Given the description of an element on the screen output the (x, y) to click on. 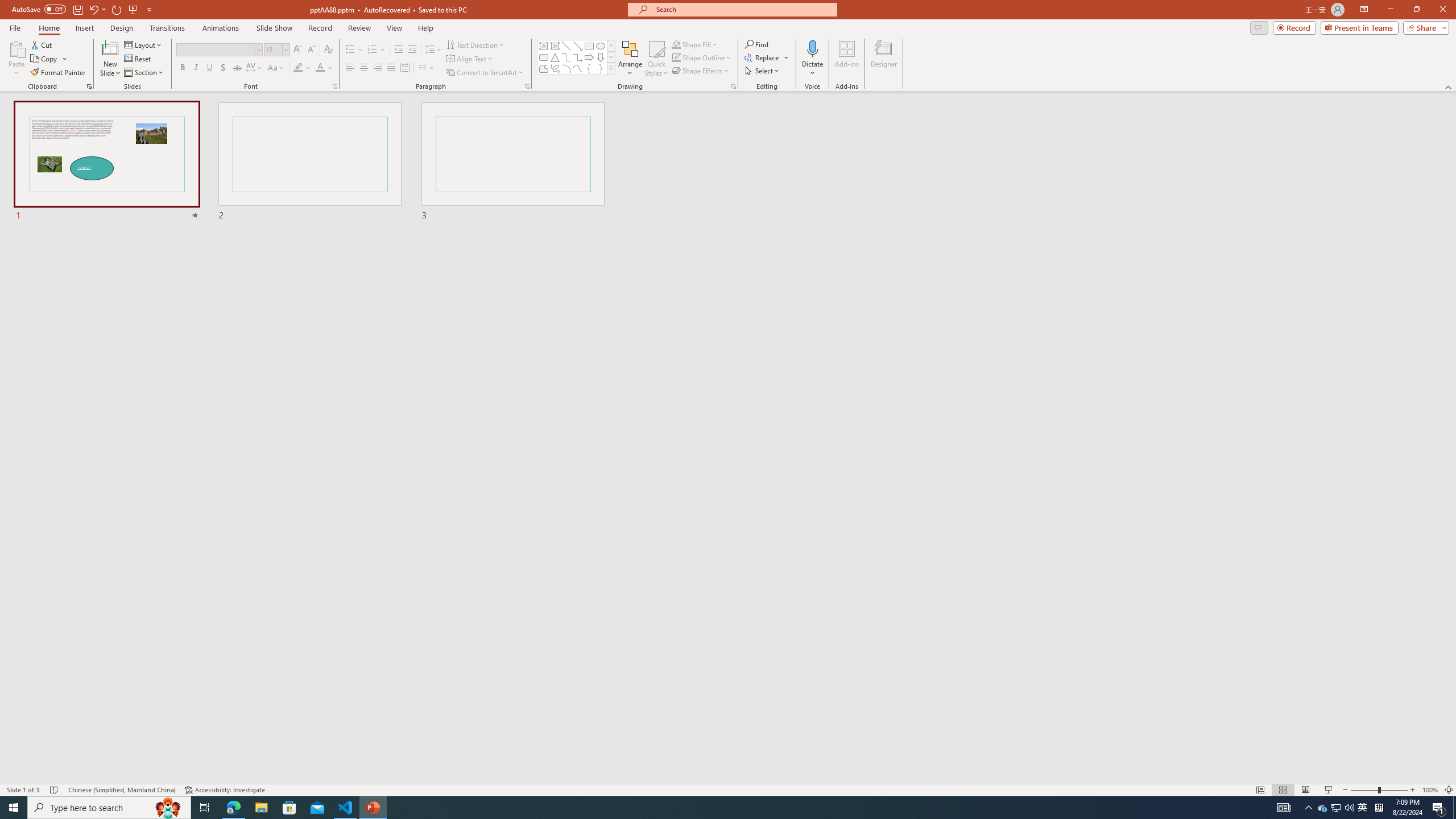
Ribbon Display Options (1364, 9)
Strikethrough (237, 67)
Line Arrow (577, 45)
Quick Access Toolbar (82, 9)
Section (144, 72)
Layout (143, 44)
Connector: Elbow Arrow (577, 57)
Class: NetUIImage (610, 68)
Animations (220, 28)
Font (219, 49)
Arrow: Down (600, 57)
Row up (611, 45)
System (6, 6)
